Given the description of an element on the screen output the (x, y) to click on. 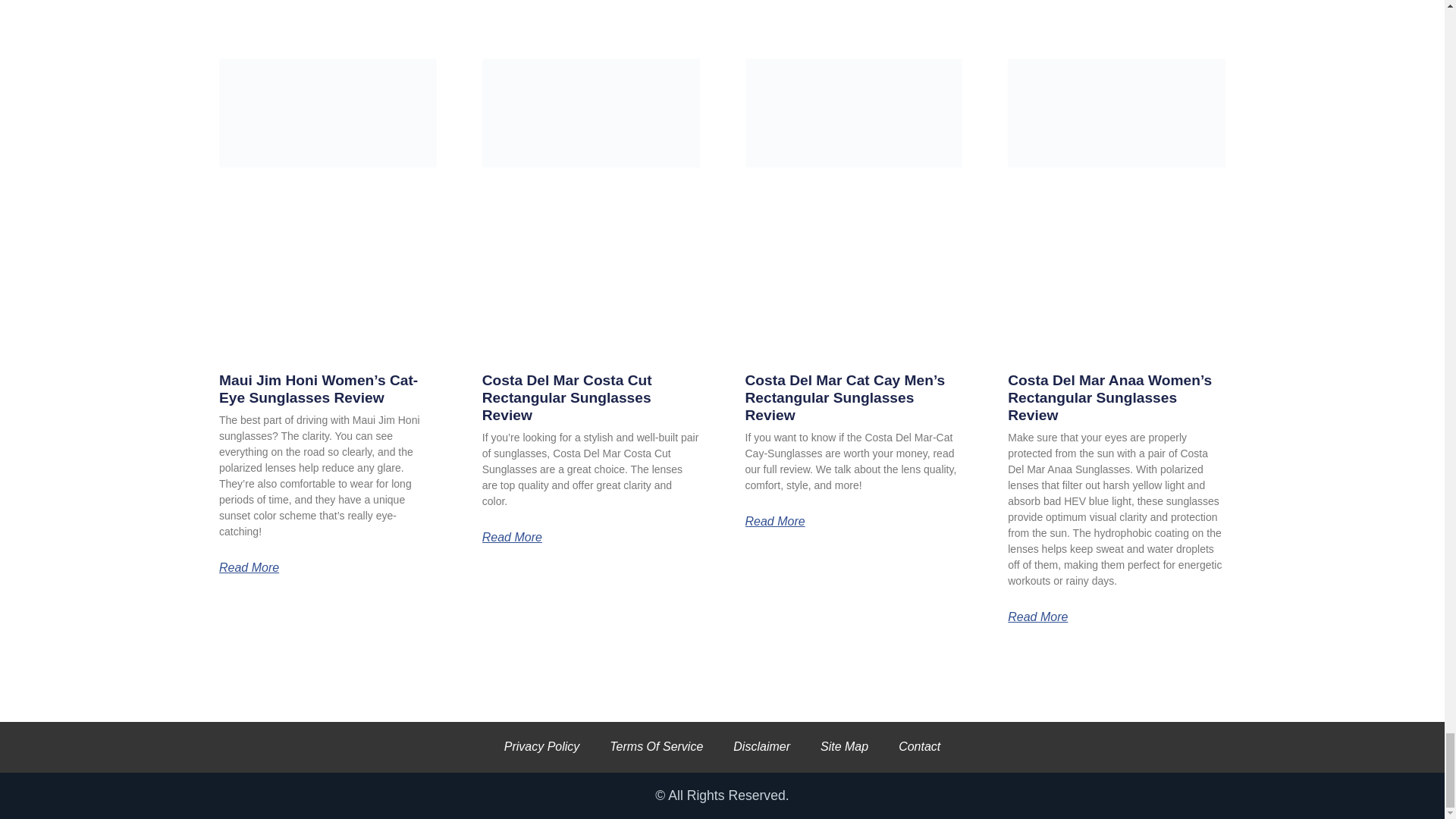
Read More (249, 567)
Site Map (844, 746)
Read More (511, 537)
Privacy Policy (542, 746)
Disclaimer (761, 746)
Terms Of Service (655, 746)
Read More (774, 521)
Costa Del Mar Costa Cut Rectangular Sunglasses Review (566, 397)
Read More (1037, 616)
